Given the description of an element on the screen output the (x, y) to click on. 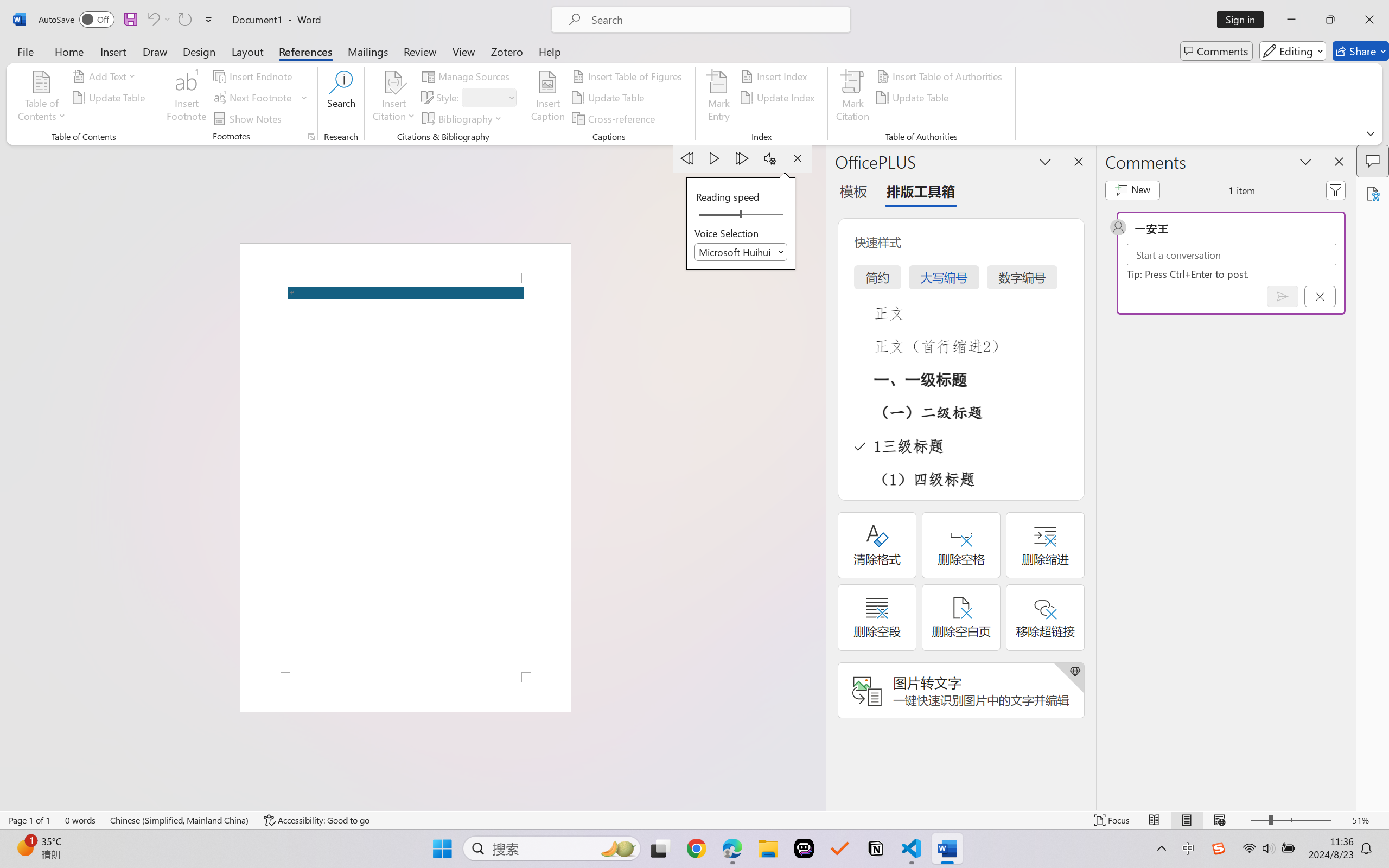
Insert Caption... (547, 97)
Bibliography (463, 118)
Undo Apply Quick Style Set (158, 19)
